Given the description of an element on the screen output the (x, y) to click on. 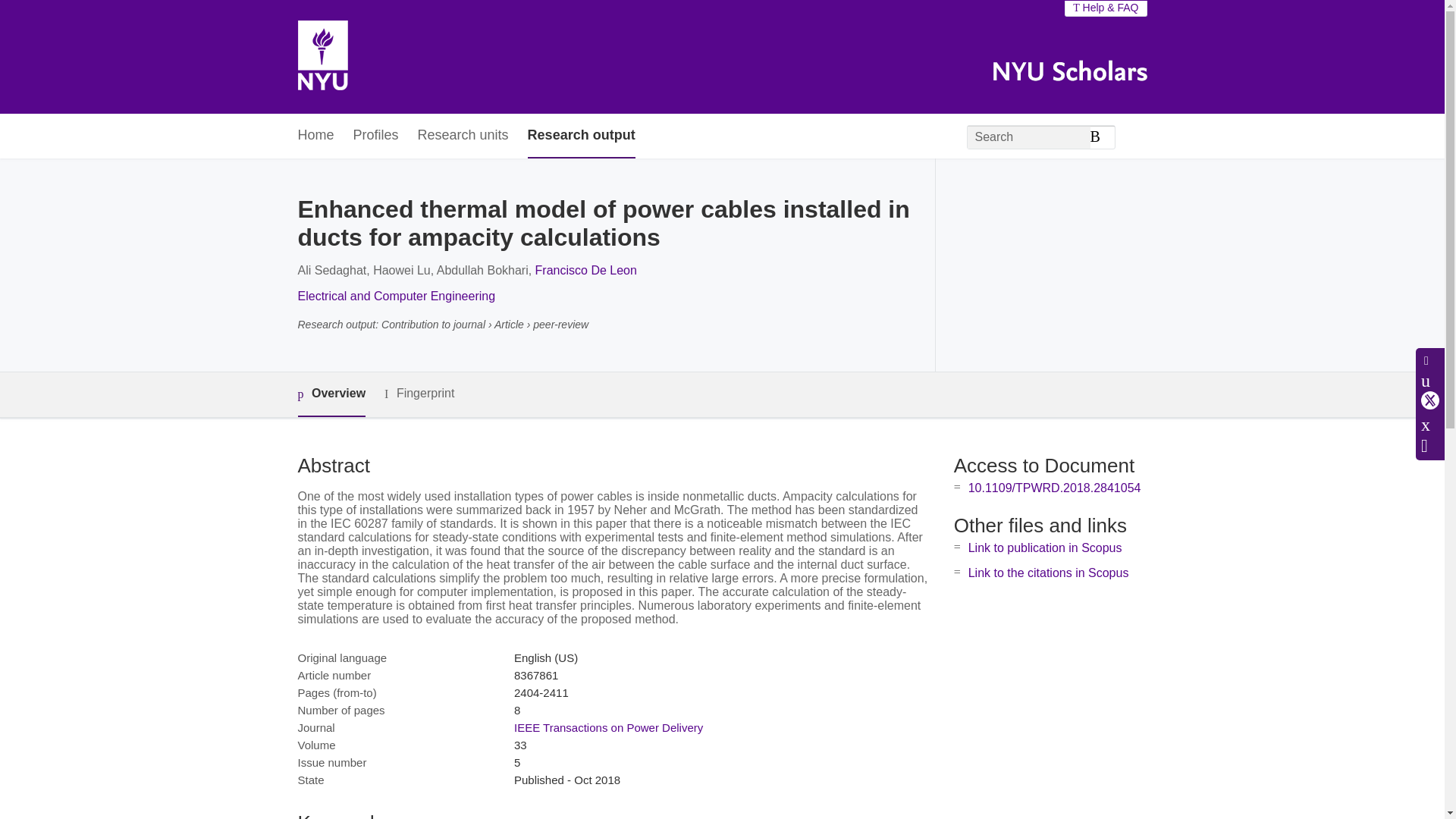
Link to the citations in Scopus (1048, 572)
Link to publication in Scopus (1045, 547)
Electrical and Computer Engineering (396, 295)
Francisco De Leon (586, 269)
Fingerprint (419, 393)
Research units (462, 135)
Research output (580, 135)
Profiles (375, 135)
IEEE Transactions on Power Delivery (608, 727)
Overview (331, 394)
